Given the description of an element on the screen output the (x, y) to click on. 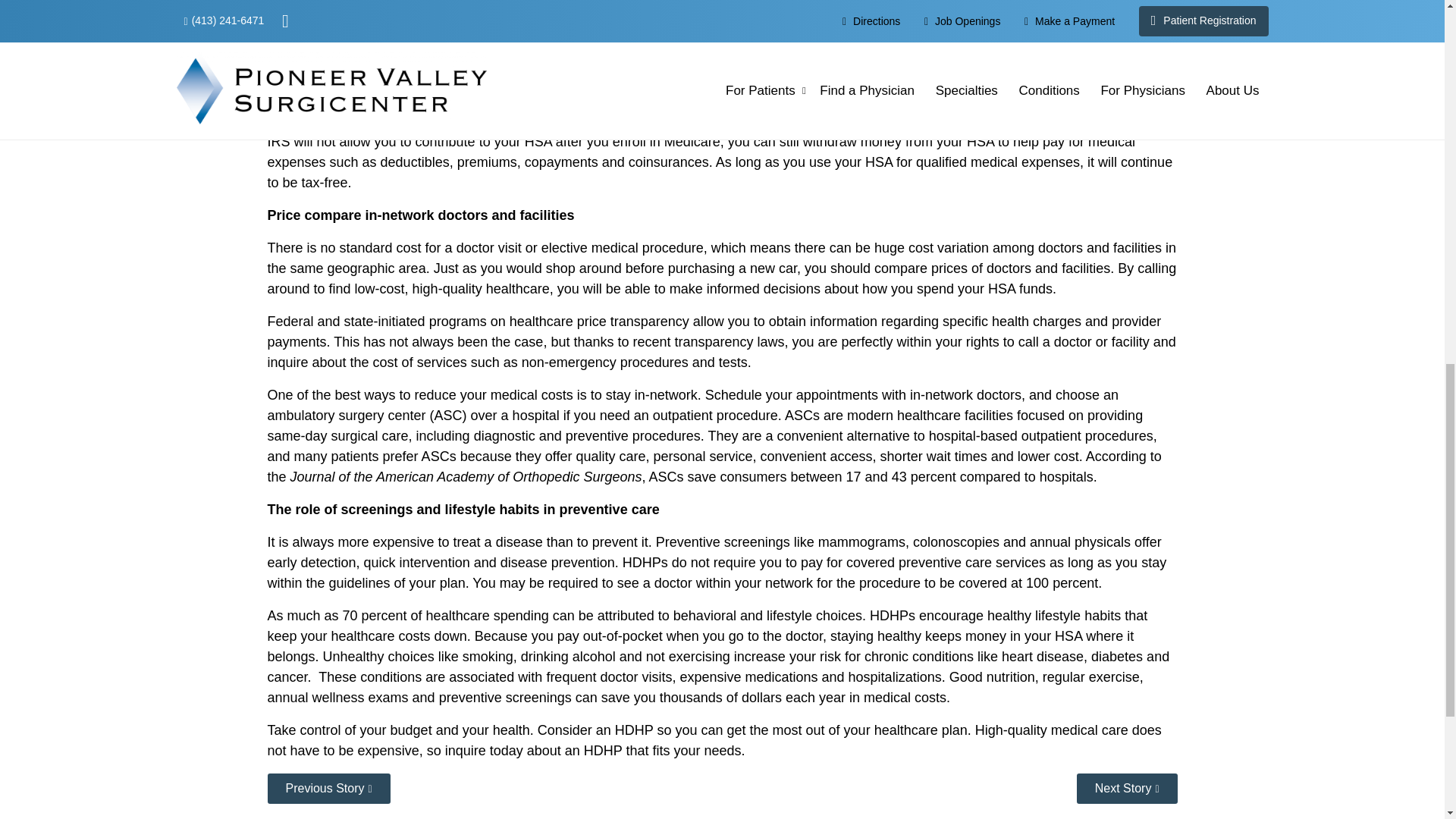
Previous Story (328, 788)
Next Story (1127, 788)
